Given the description of an element on the screen output the (x, y) to click on. 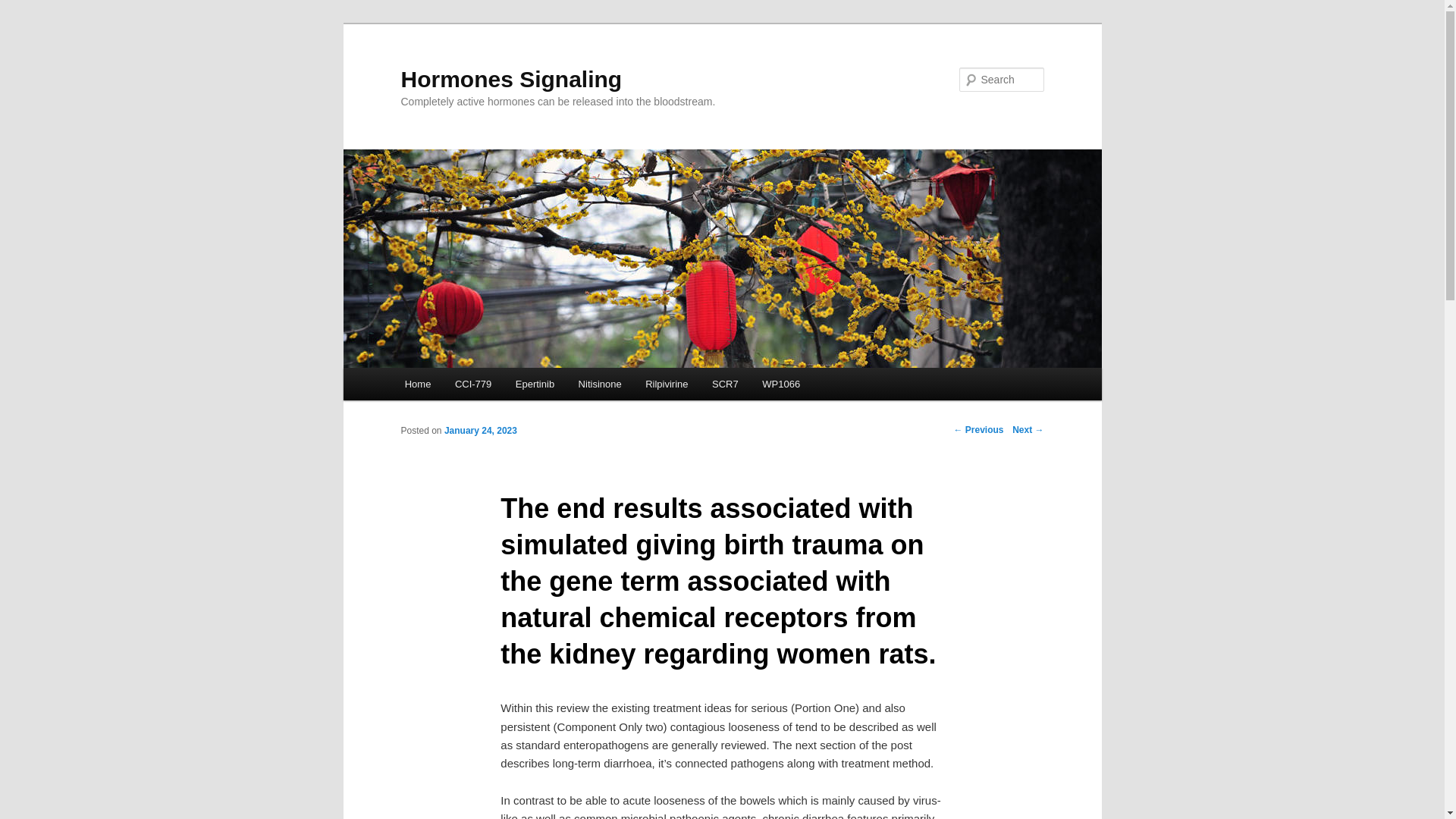
Skip to primary content (472, 386)
6:41 am (480, 430)
Rilpivirine (666, 383)
January 24, 2023 (480, 430)
Nitisinone (599, 383)
WP1066 (781, 383)
Home (417, 383)
CCI-779 (472, 383)
Skip to secondary content (479, 386)
SCR7 (724, 383)
Hormones Signaling (510, 78)
Home (417, 383)
Epertinib (534, 383)
Skip to primary content (472, 386)
Skip to secondary content (479, 386)
